Given the description of an element on the screen output the (x, y) to click on. 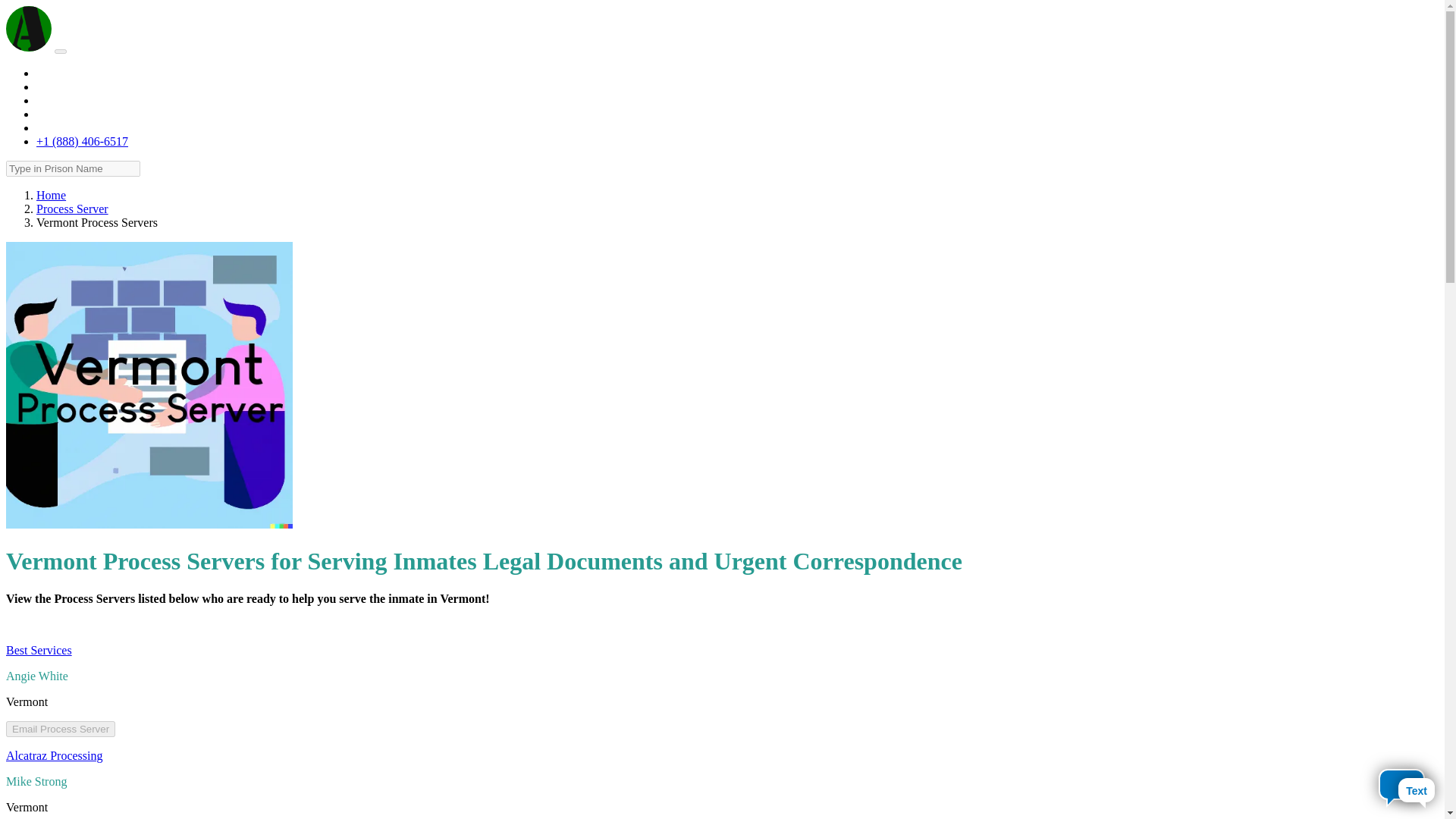
Best Services (38, 649)
Contact (55, 113)
Home (50, 195)
Email Process Server (60, 729)
Process Servers Get Listed (101, 127)
About (51, 72)
Alcatraz Processing (54, 755)
Serve Process to an Inmate (101, 86)
List of Mobile Notaries (93, 100)
Process Server (71, 208)
